Given the description of an element on the screen output the (x, y) to click on. 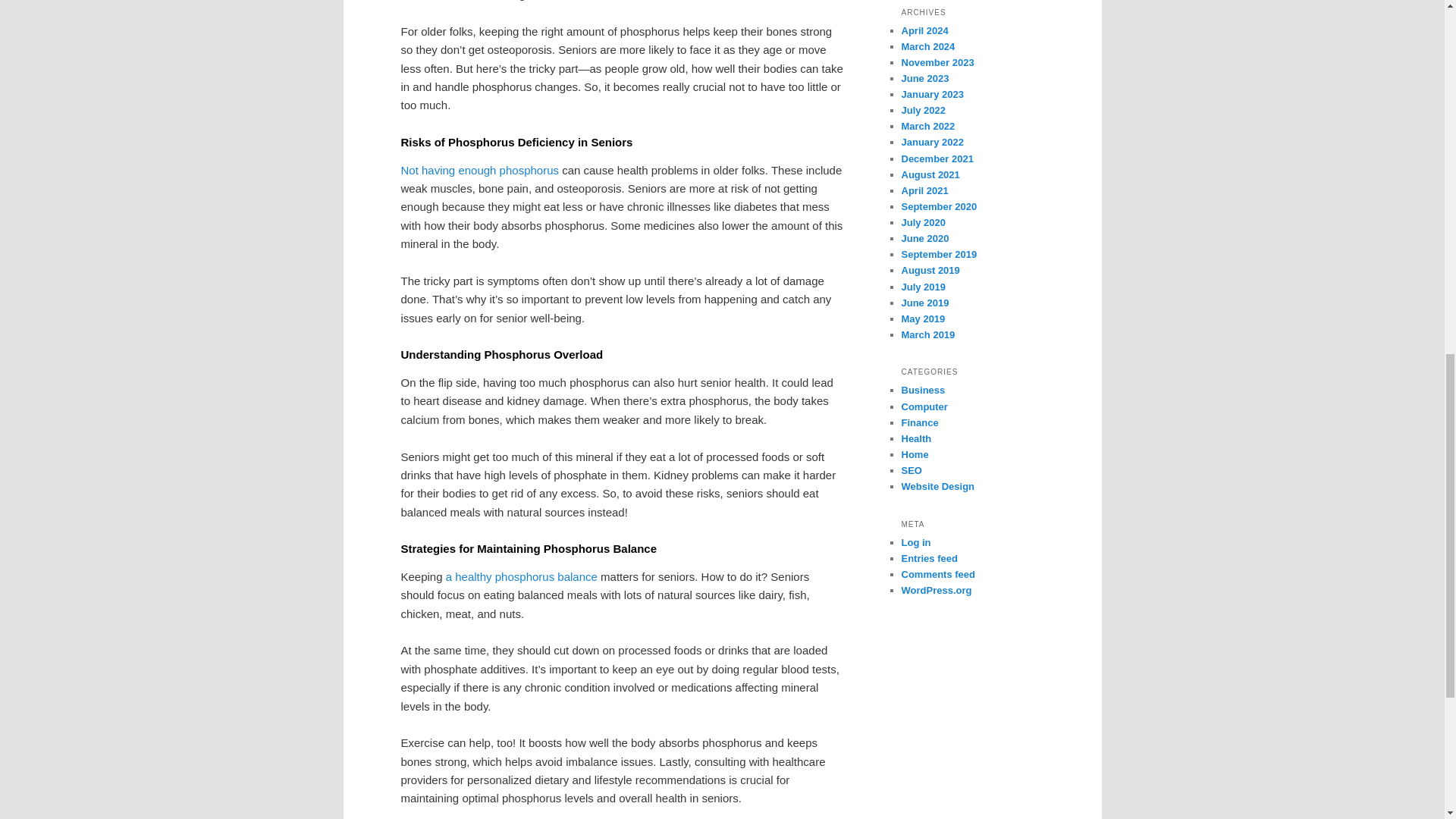
January 2023 (931, 93)
December 2021 (936, 158)
November 2023 (937, 61)
April 2021 (924, 190)
July 2020 (922, 222)
July 2022 (922, 110)
April 2024 (924, 30)
January 2022 (931, 142)
a healthy phosphorus balance (520, 576)
June 2023 (925, 78)
March 2022 (928, 125)
September 2020 (938, 206)
August 2021 (930, 174)
September 2019 (938, 254)
June 2020 (925, 238)
